Given the description of an element on the screen output the (x, y) to click on. 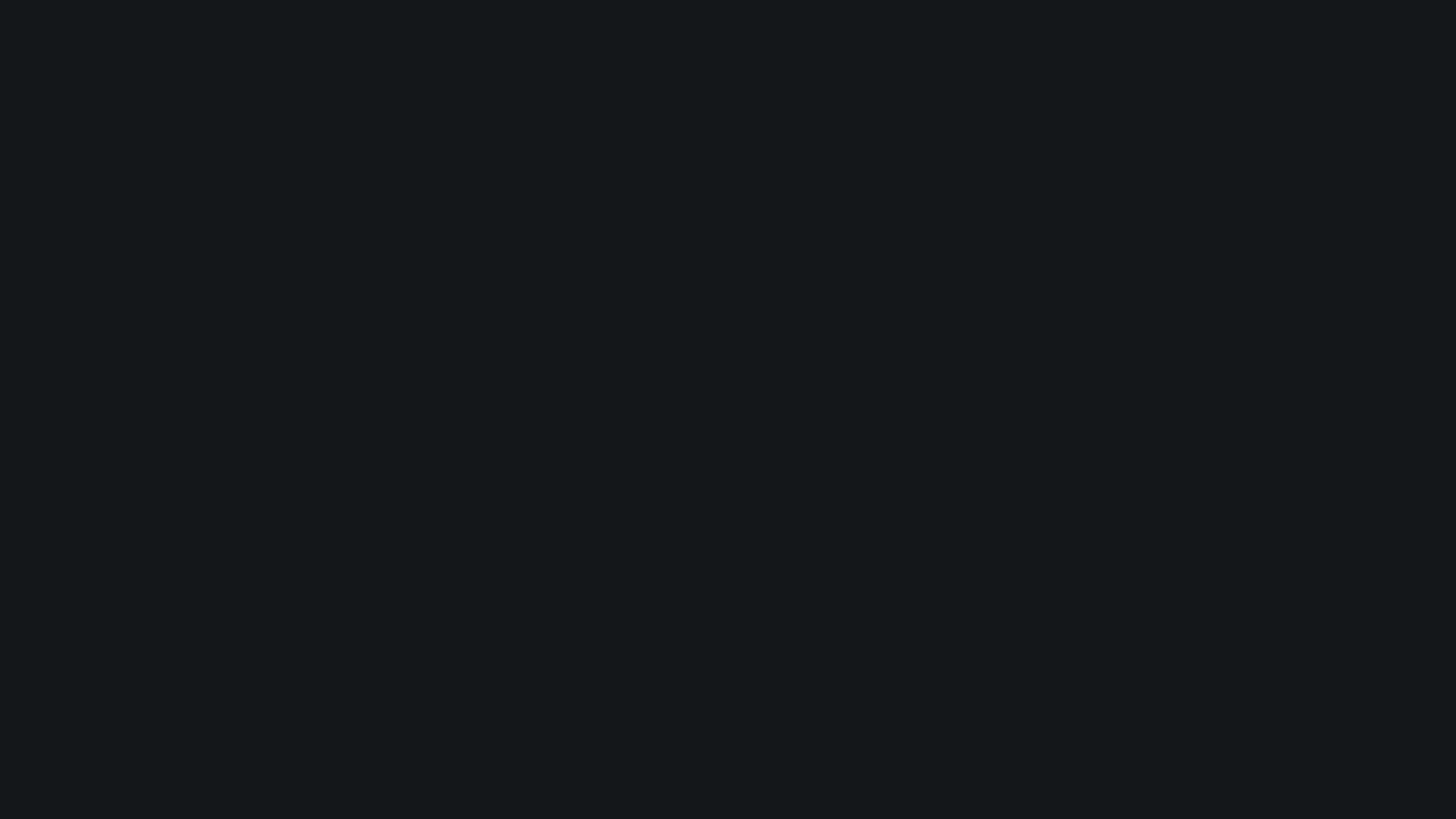
PUBLICATIONS Element type: text (704, 115)
BUY PHOTOS Element type: text (1383, 483)
Slideshow Element type: hover (1263, 483)
ABOUT Element type: text (574, 115)
Share Gallery Element type: hover (1226, 483)
GALLERIES Element type: text (631, 115)
HOME Element type: text (527, 115)
BOOK NOW! Element type: text (917, 115)
SERVICES Element type: text (776, 115)
Download All Element type: hover (1301, 483)
CLIENT LOGIN Element type: text (845, 115)
